Given the description of an element on the screen output the (x, y) to click on. 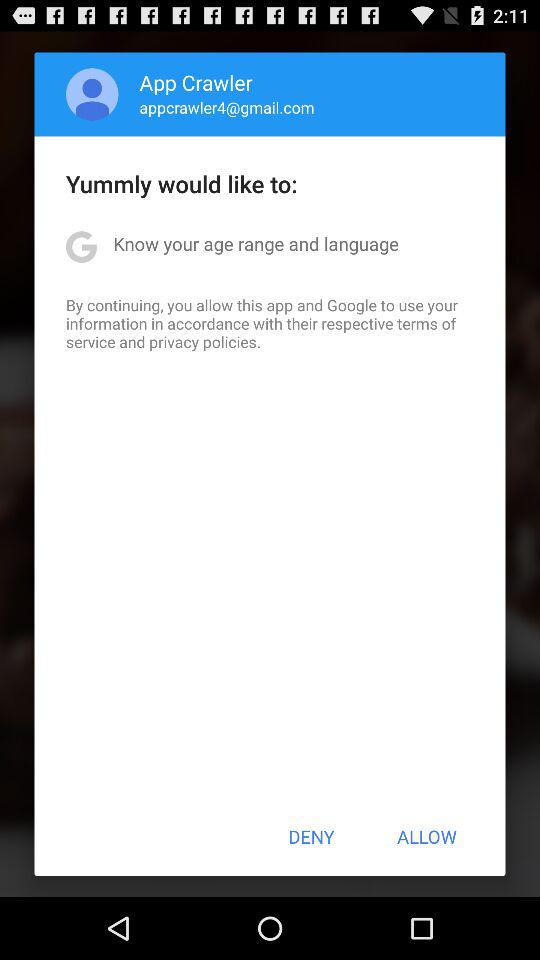
launch the app below yummly would like item (255, 243)
